Given the description of an element on the screen output the (x, y) to click on. 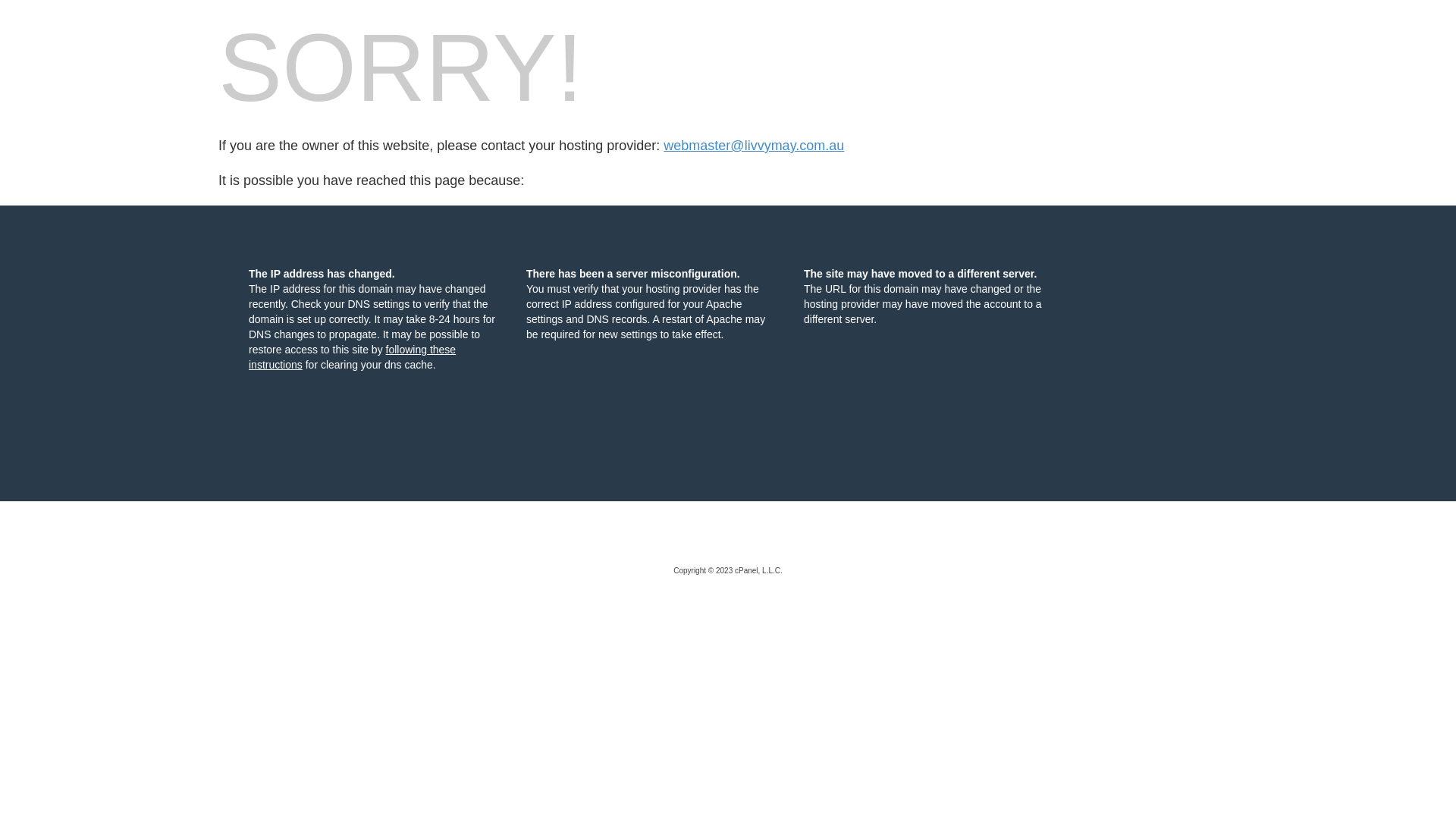
following these instructions Element type: text (351, 356)
webmaster@livvymay.com.au Element type: text (753, 145)
